Given the description of an element on the screen output the (x, y) to click on. 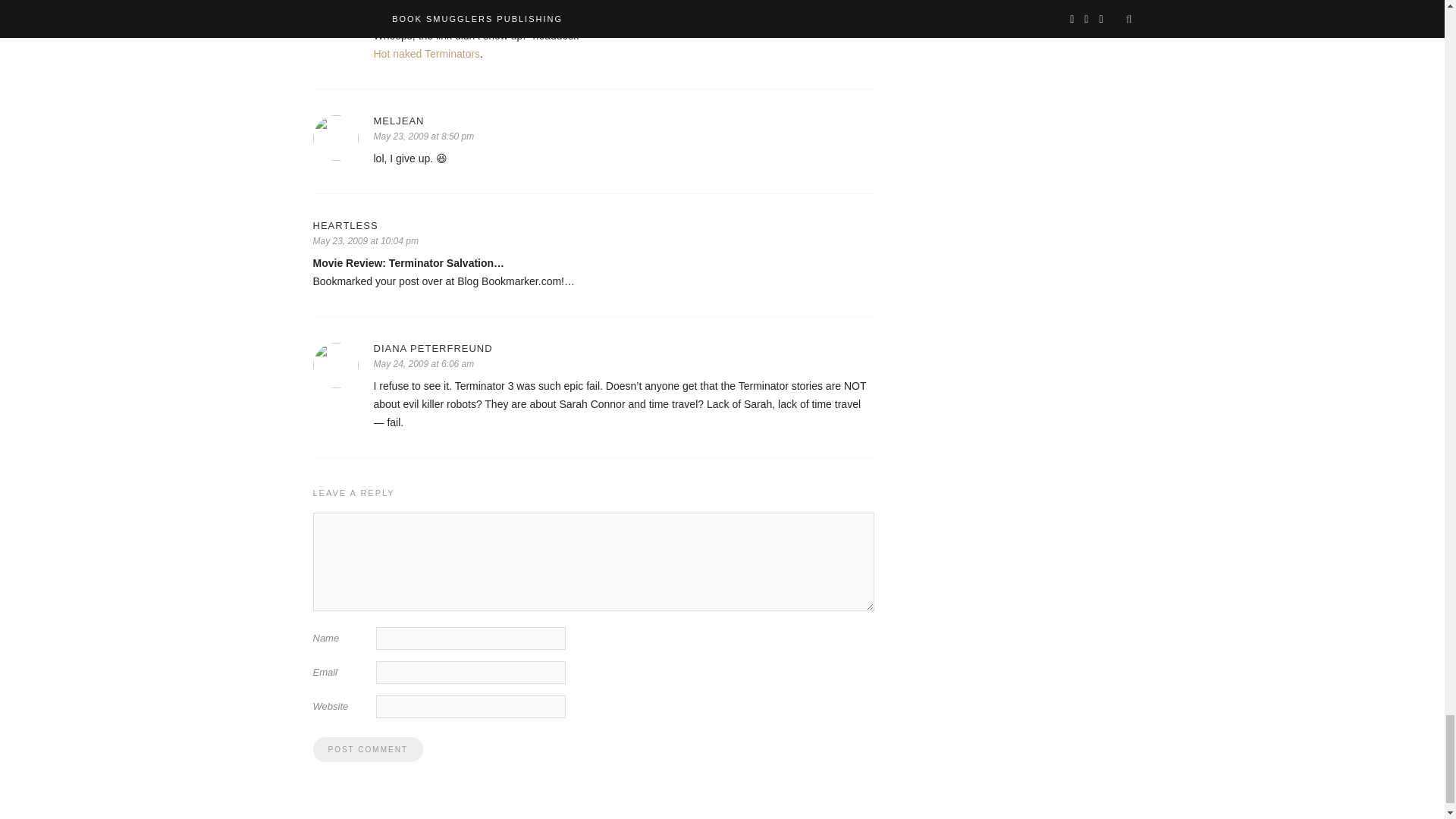
HEARTLESS (593, 225)
Hot naked Terminators (426, 53)
Post Comment (367, 749)
MELJEAN (622, 120)
DIANA PETERFREUND (622, 348)
